Given the description of an element on the screen output the (x, y) to click on. 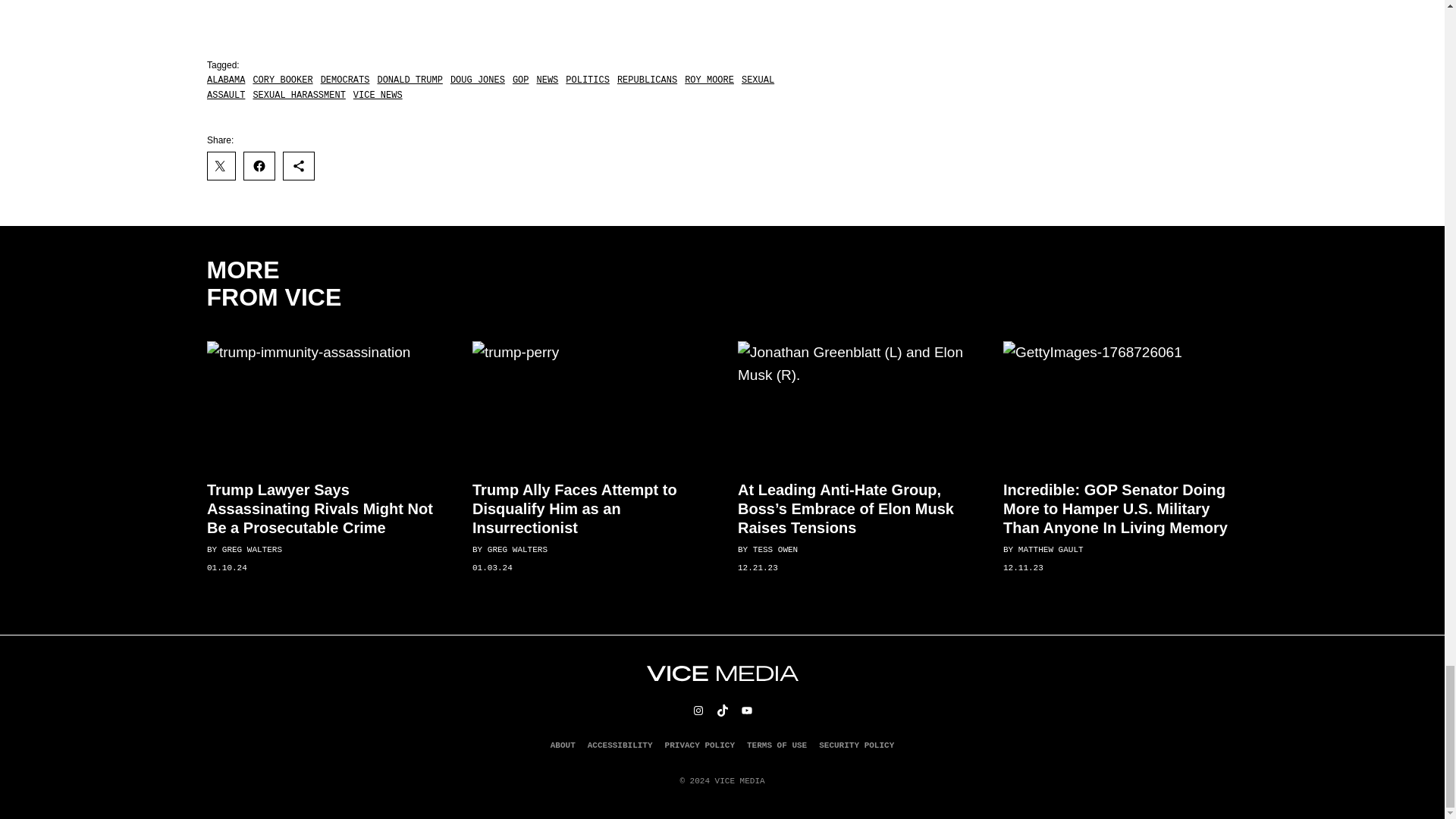
Posts by Matthew Gault (1050, 549)
Posts by Greg Walters (251, 549)
Posts by Greg Walters (516, 549)
Posts by Tess Owen (774, 549)
